Given the description of an element on the screen output the (x, y) to click on. 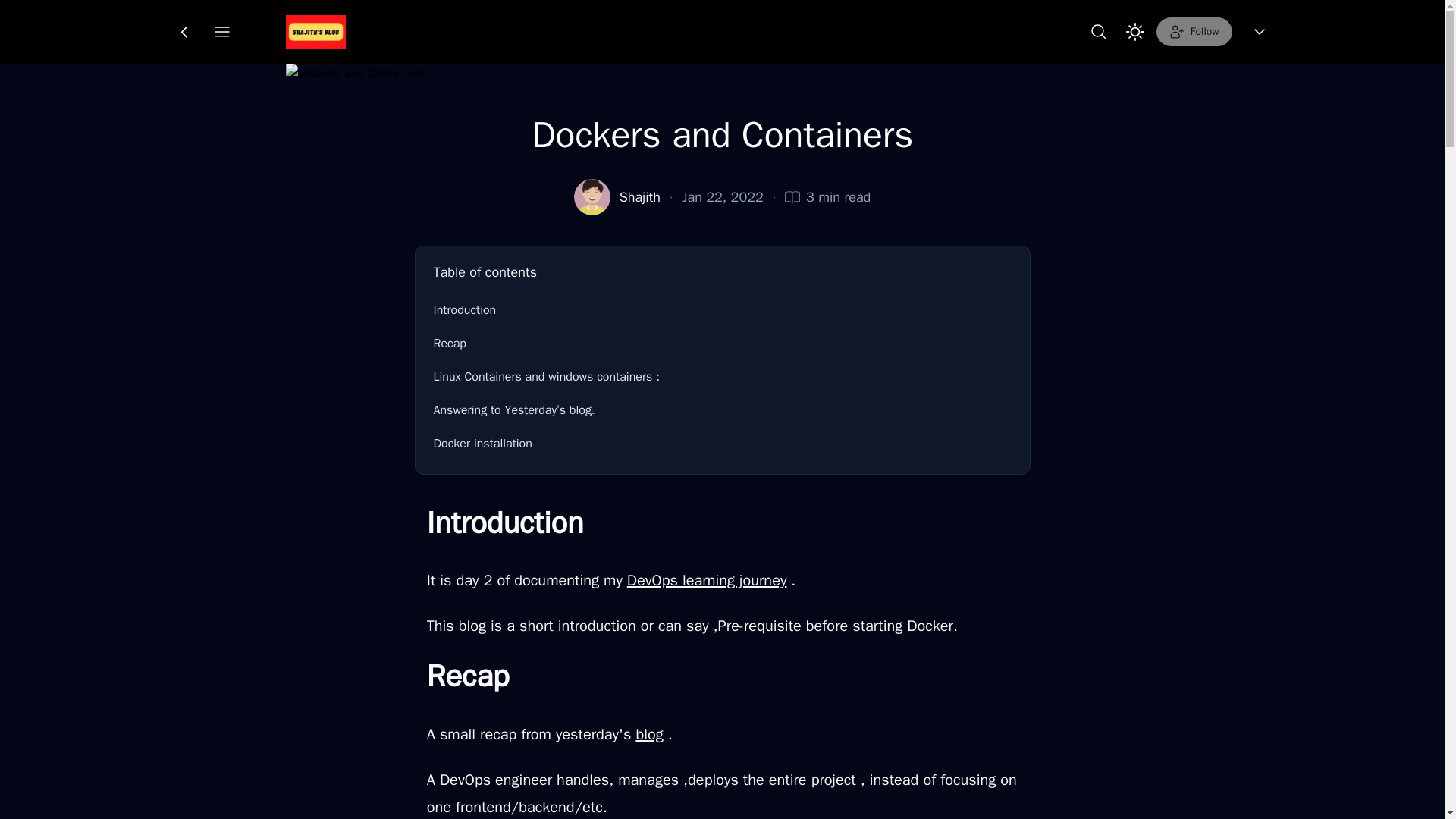
blog (648, 733)
Shajith (640, 197)
Linux Containers and windows containers : (722, 376)
Introduction (722, 309)
Jan 22, 2022 (721, 197)
Recap (722, 343)
Docker installation (722, 443)
DevOps learning journey (707, 579)
Follow (1193, 31)
